Given the description of an element on the screen output the (x, y) to click on. 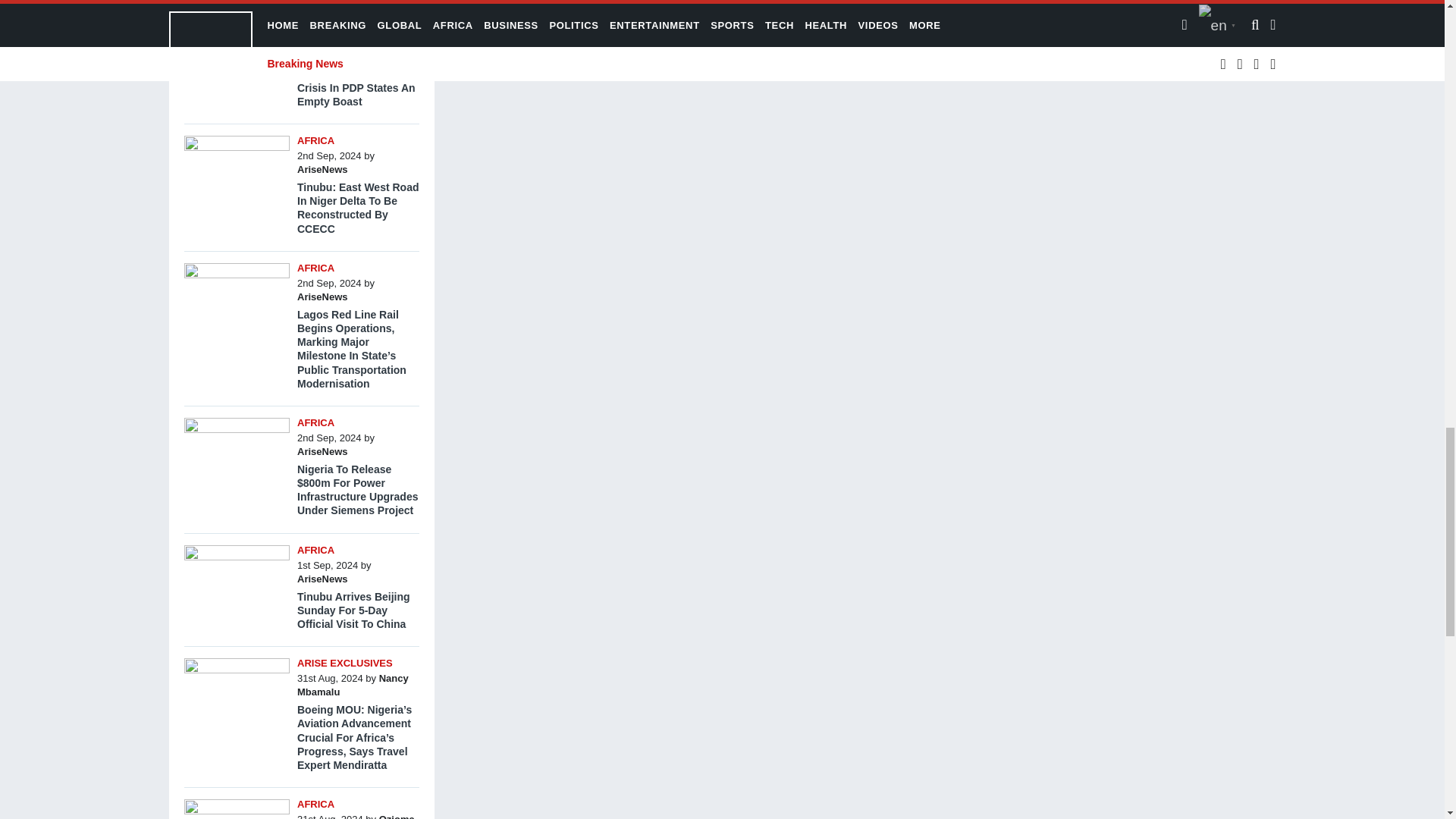
Youtube (678, 8)
Instagram (622, 8)
Facebook (566, 8)
Twitter (595, 8)
WhatsApp (651, 8)
